Given the description of an element on the screen output the (x, y) to click on. 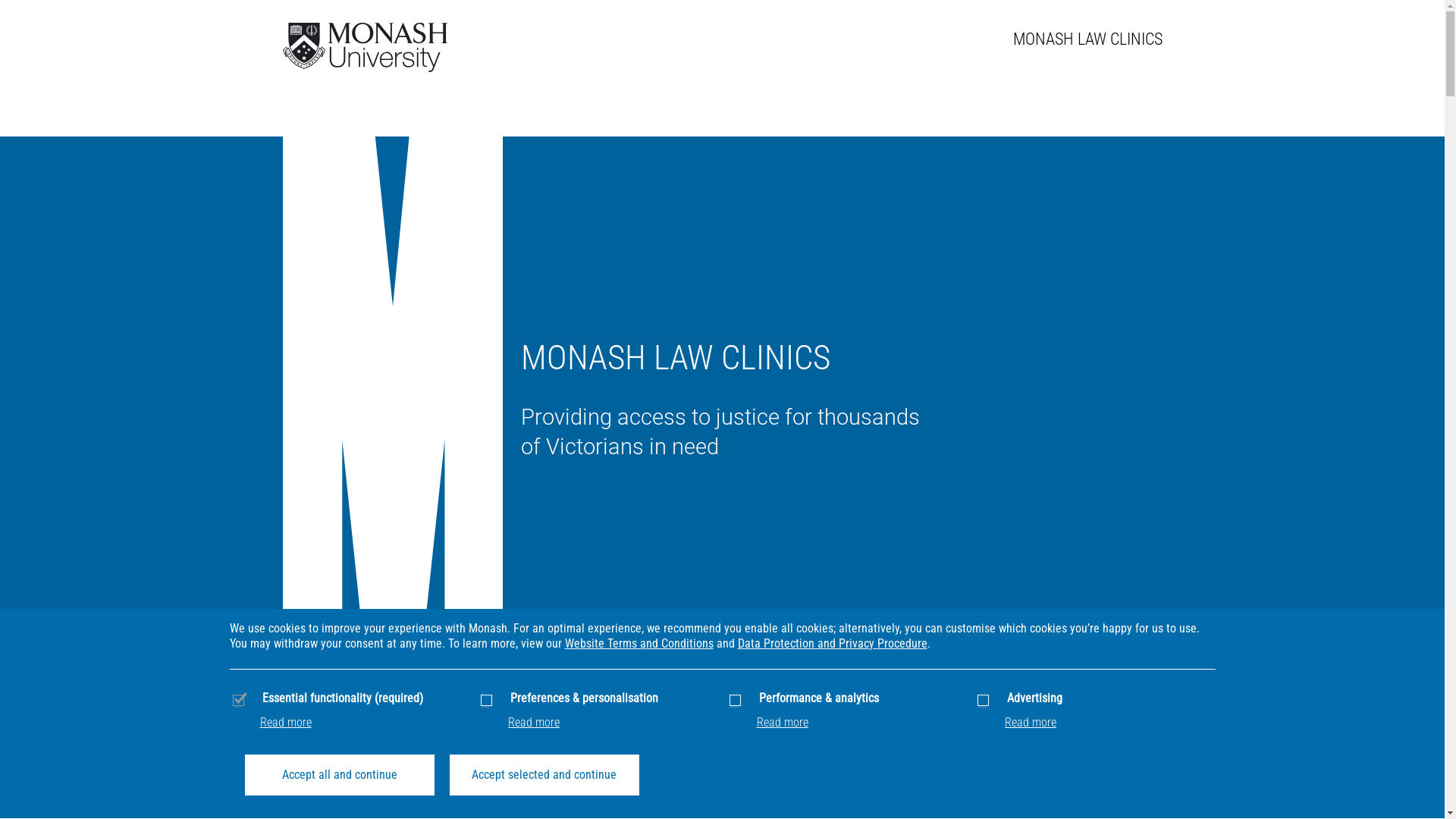
Read more Element type: text (1030, 722)
Data Protection and Privacy Procedure Element type: text (831, 643)
MONASH LAW CLINICS Element type: text (1087, 39)
Accept all and continue Element type: text (338, 774)
Read more Element type: text (284, 722)
Read more Element type: text (782, 722)
autumn-studio-407865-unsplash.jpg Element type: hover (44, 119)
Accept selected and continue Element type: text (543, 774)
Read more Element type: text (533, 722)
Website Terms and Conditions Element type: text (638, 643)
Monash University Element type: hover (366, 45)
